Given the description of an element on the screen output the (x, y) to click on. 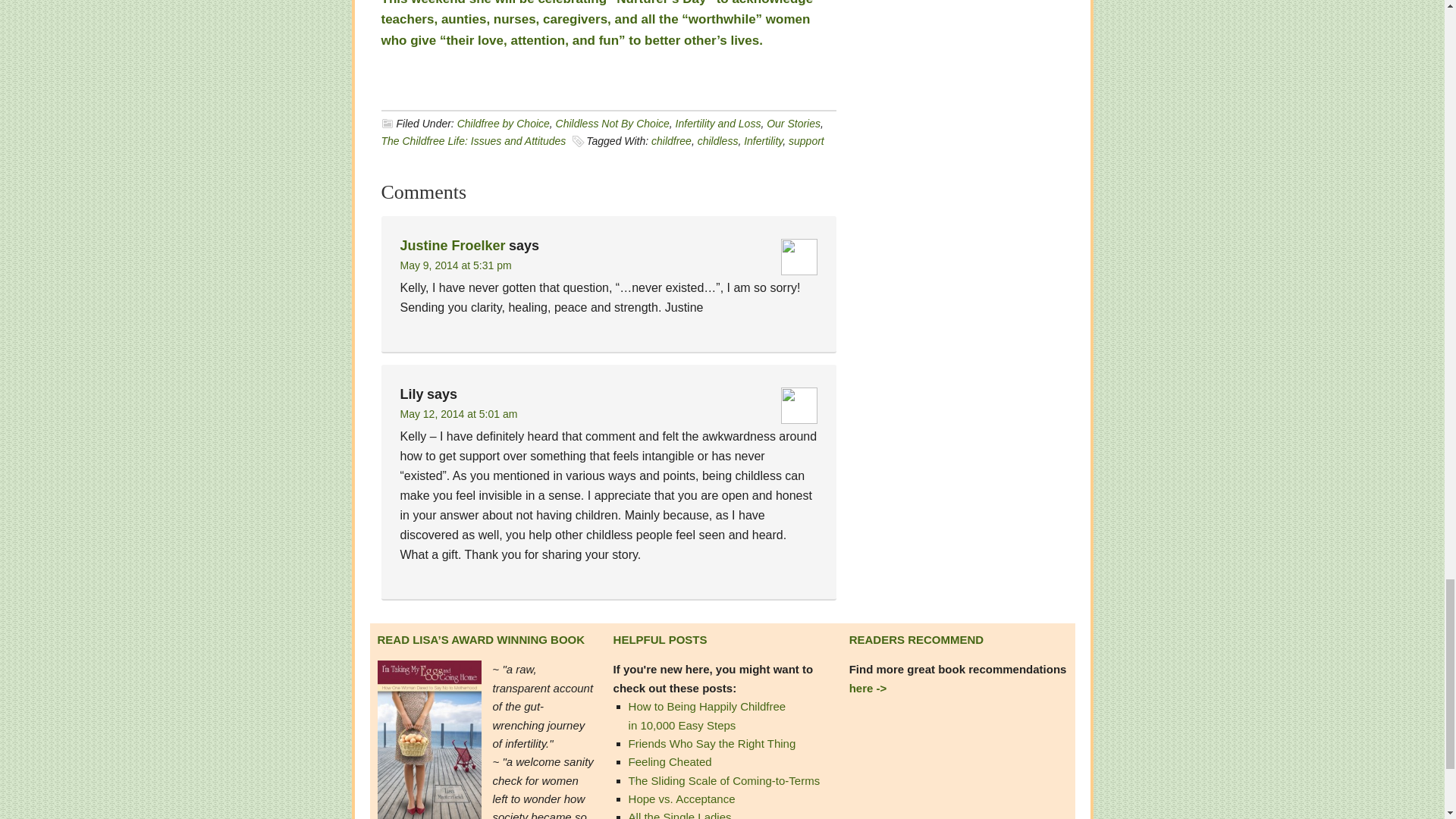
May 12, 2014 at 5:01 am (459, 413)
support (806, 141)
The Childfree Life: Issues and Attitudes (473, 141)
childfree (670, 141)
Infertility (763, 141)
The Sliding Scale of Coming-to-Terms (724, 780)
Infertility and Loss (718, 123)
Childfree by Choice (503, 123)
Friends Who Said the Right Thing (712, 743)
Hope vs. Acceptance (681, 798)
